Given the description of an element on the screen output the (x, y) to click on. 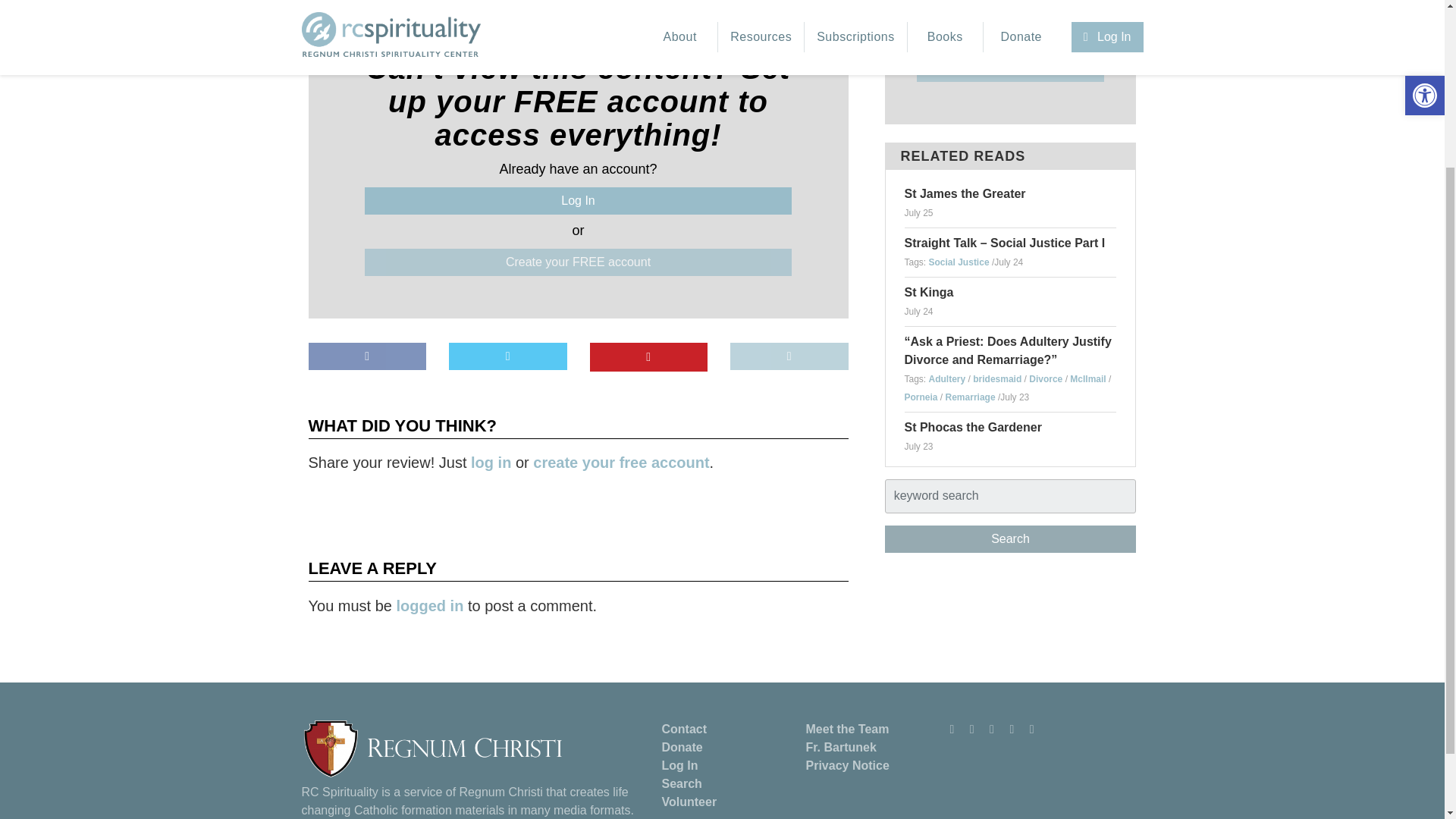
log in (490, 462)
Log In (578, 200)
Create your FREE account (578, 262)
